Given the description of an element on the screen output the (x, y) to click on. 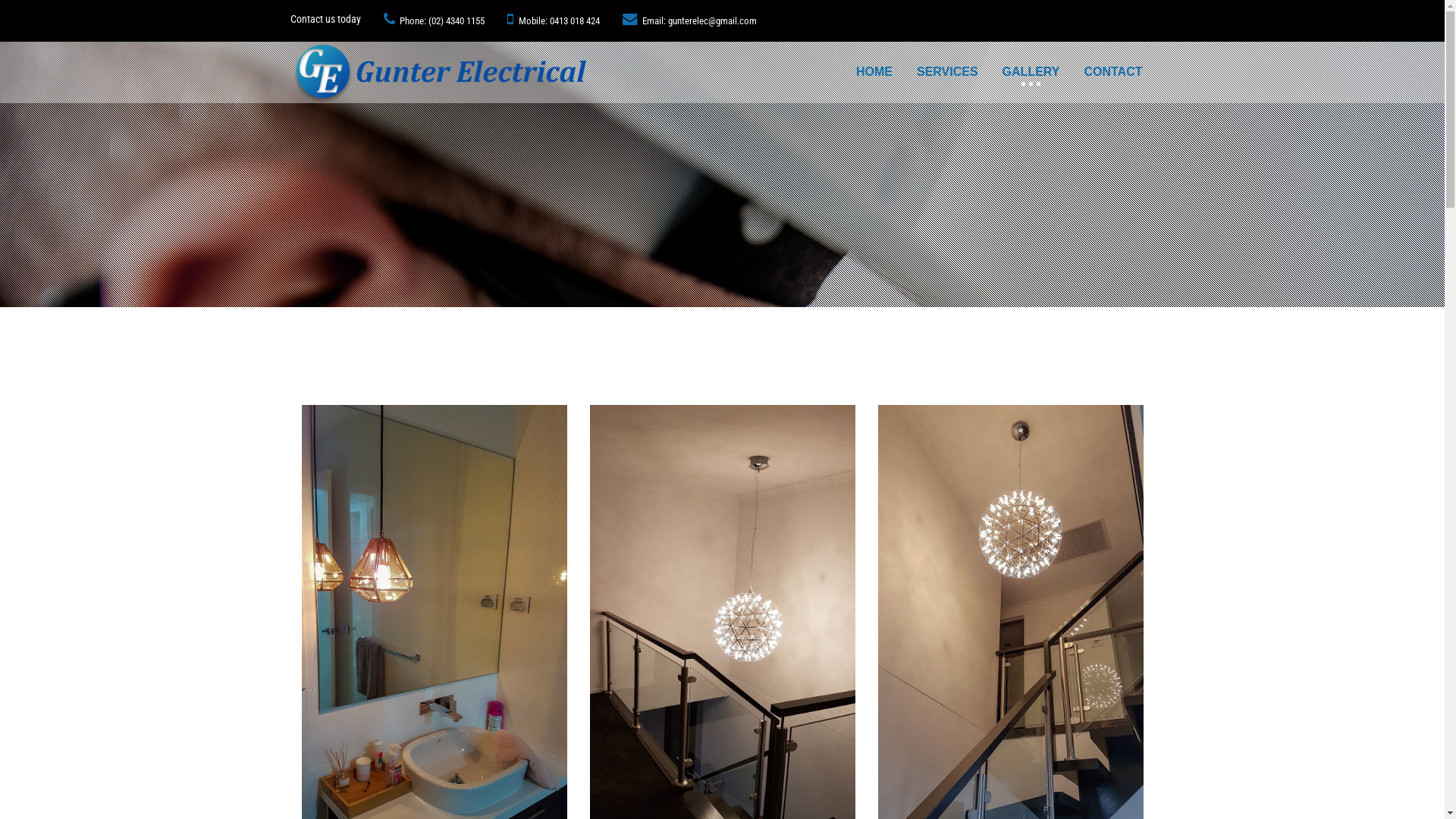
Email: gunterelec@gmail.com Element type: text (689, 20)
Mobile: 0413 018 424 Element type: text (553, 20)
CONTACT Element type: text (1112, 60)
GALLERY Element type: text (1031, 60)
SERVICES Element type: text (947, 60)
Phone: (02) 4340 1155 Element type: text (434, 20)
HOME Element type: text (874, 60)
